Given the description of an element on the screen output the (x, y) to click on. 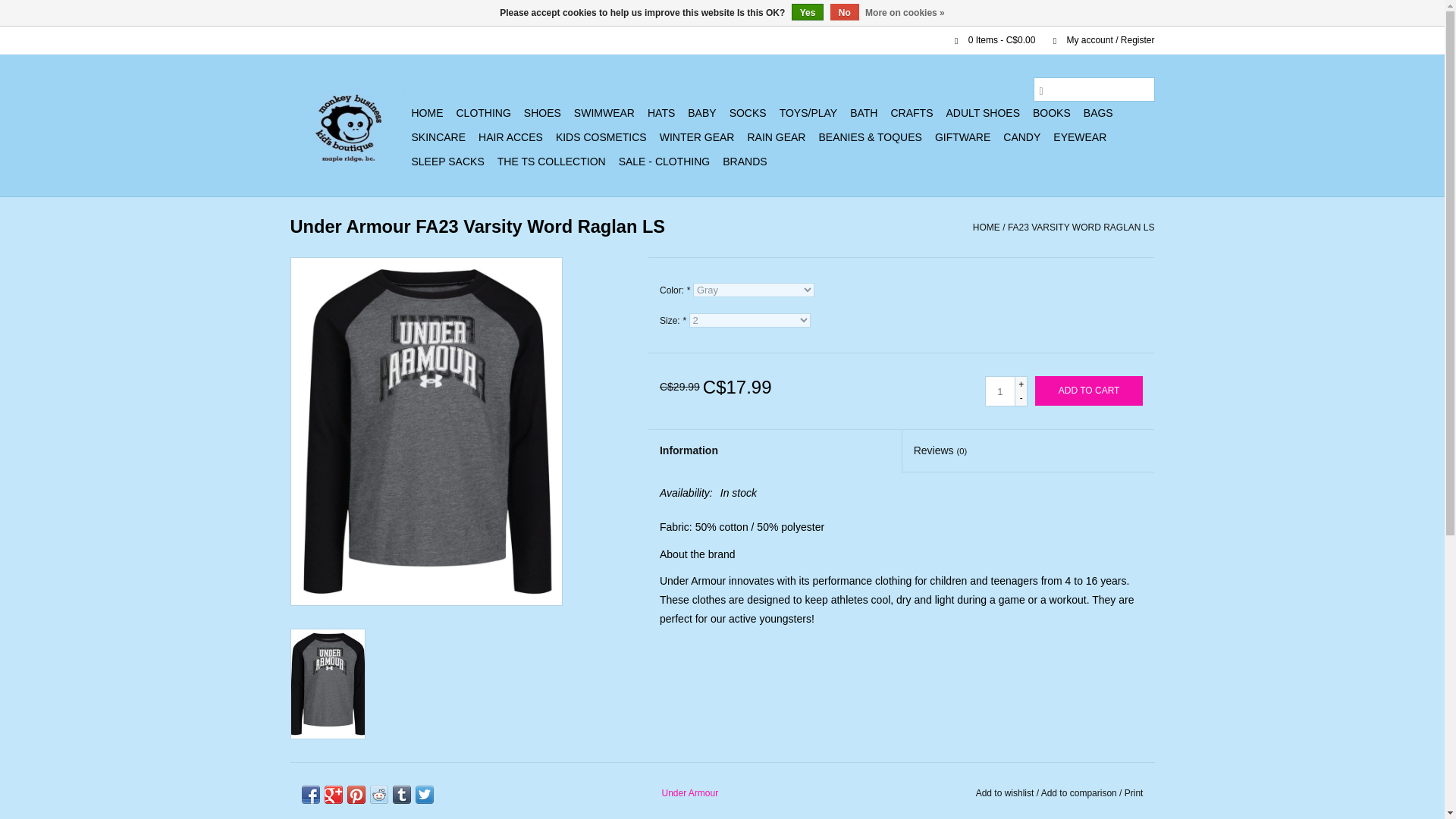
HOME (426, 112)
SWIMWEAR (604, 112)
HATS (661, 112)
Clothing (483, 112)
Cart (988, 40)
CLOTHING (483, 112)
1 (999, 390)
SHOES (542, 112)
My account (1096, 40)
